Given the description of an element on the screen output the (x, y) to click on. 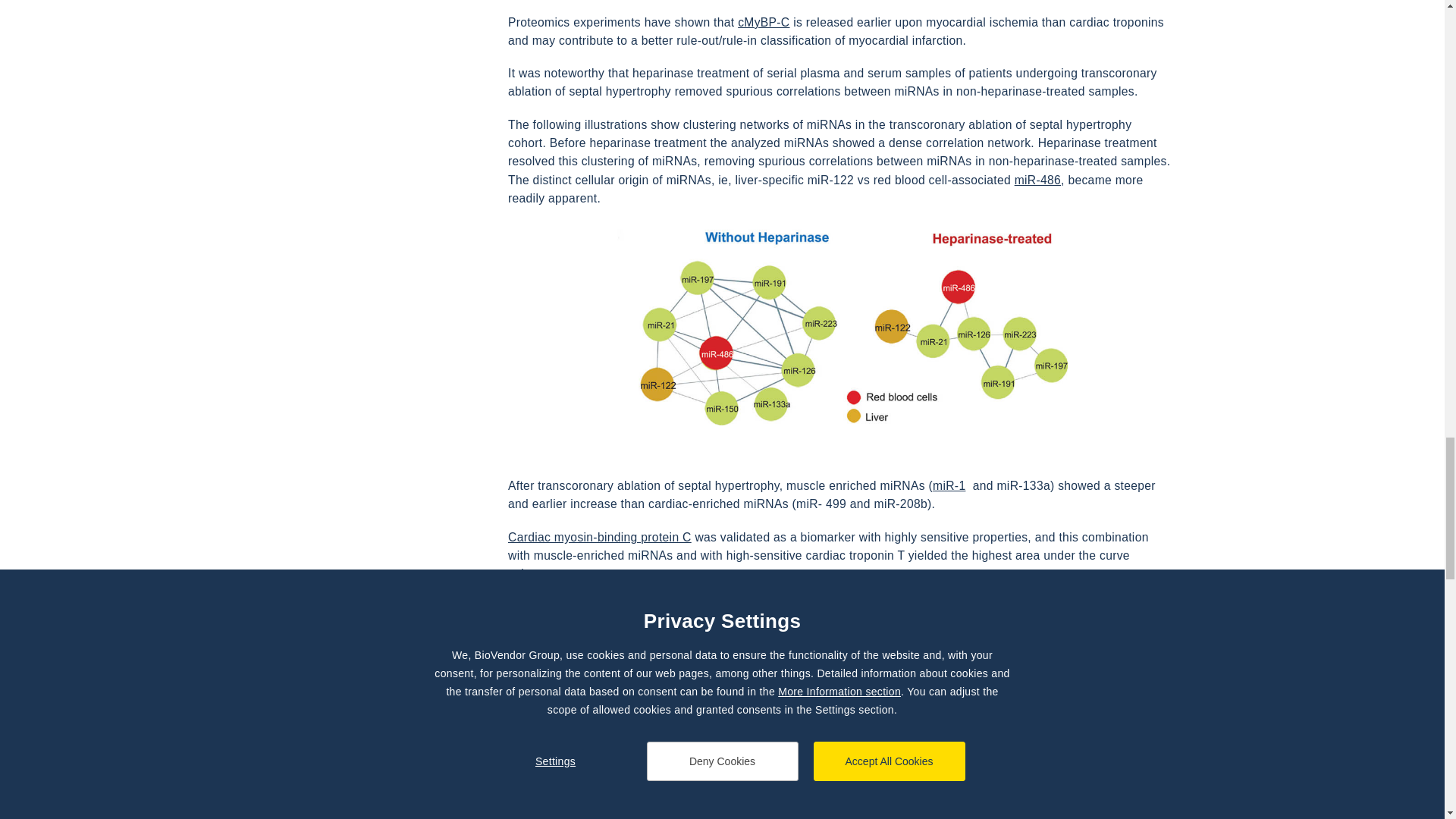
miR-486  (1037, 179)
Cardiac myosin-binding protein C (599, 537)
miR-486 (1037, 179)
miR-1 (949, 485)
cMyBP-C (763, 22)
cMyBP-C (763, 22)
Scientific News (557, 768)
miR-1 (949, 485)
